Given the description of an element on the screen output the (x, y) to click on. 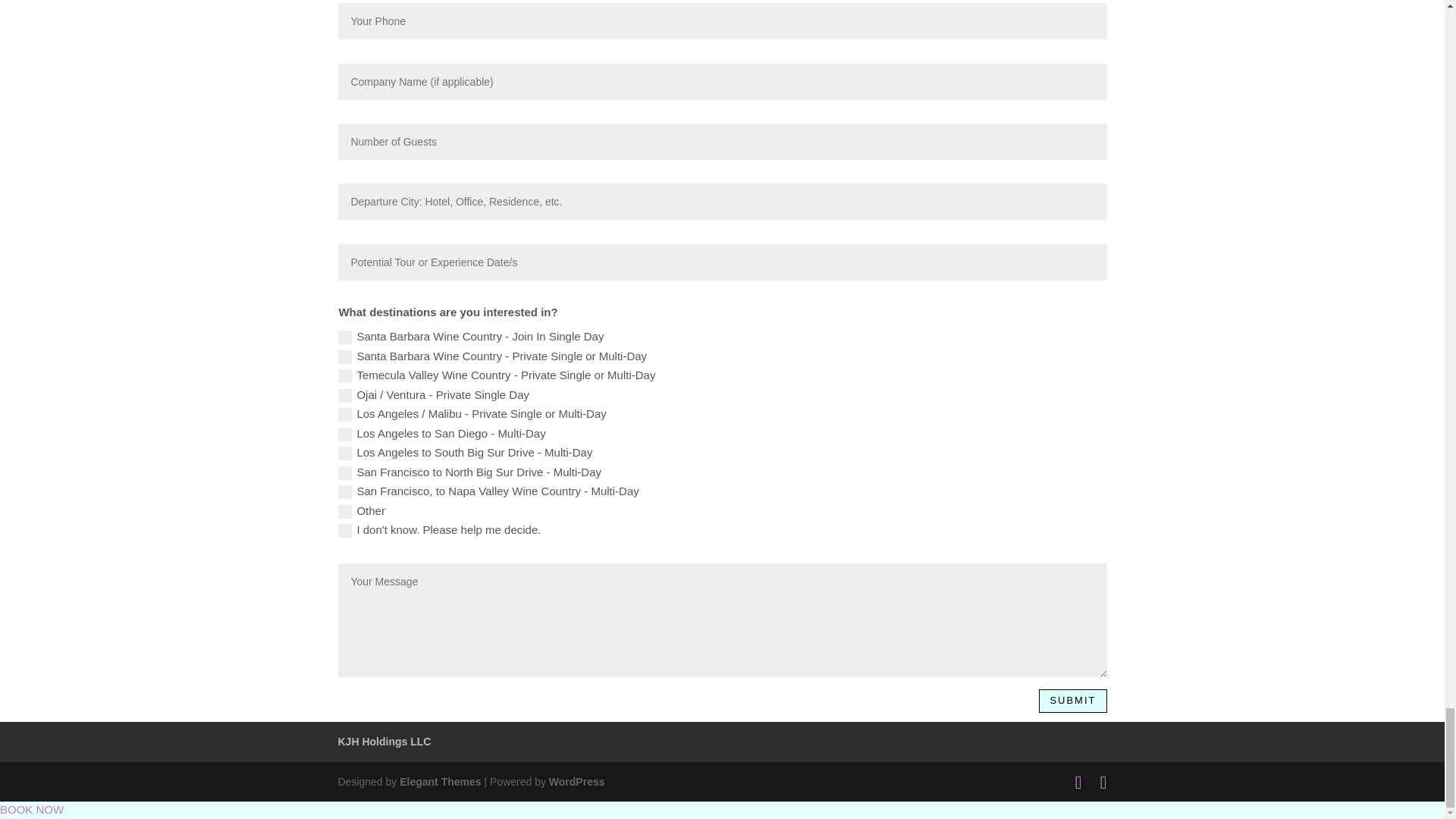
WordPress (576, 781)
BOOK NOW (32, 809)
Premium WordPress Themes (439, 781)
SUBMIT (1072, 701)
KJH Holdings LLC (383, 741)
Elegant Themes (439, 781)
